Given the description of an element on the screen output the (x, y) to click on. 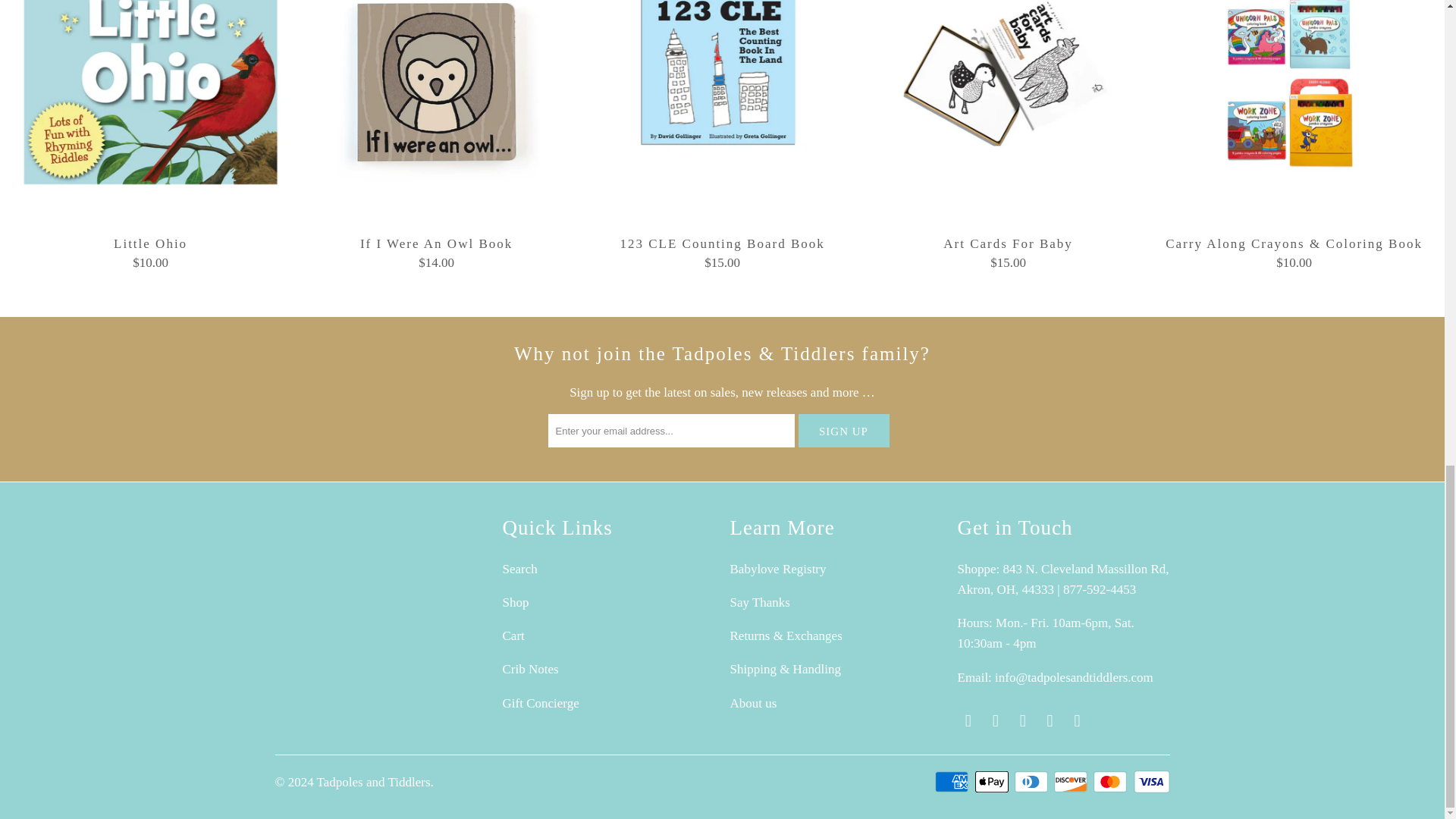
Discover (1072, 781)
Mastercard (1111, 781)
Apple Pay (993, 781)
Sign Up (842, 430)
Diners Club (1032, 781)
Visa (1150, 781)
American Express (952, 781)
